Given the description of an element on the screen output the (x, y) to click on. 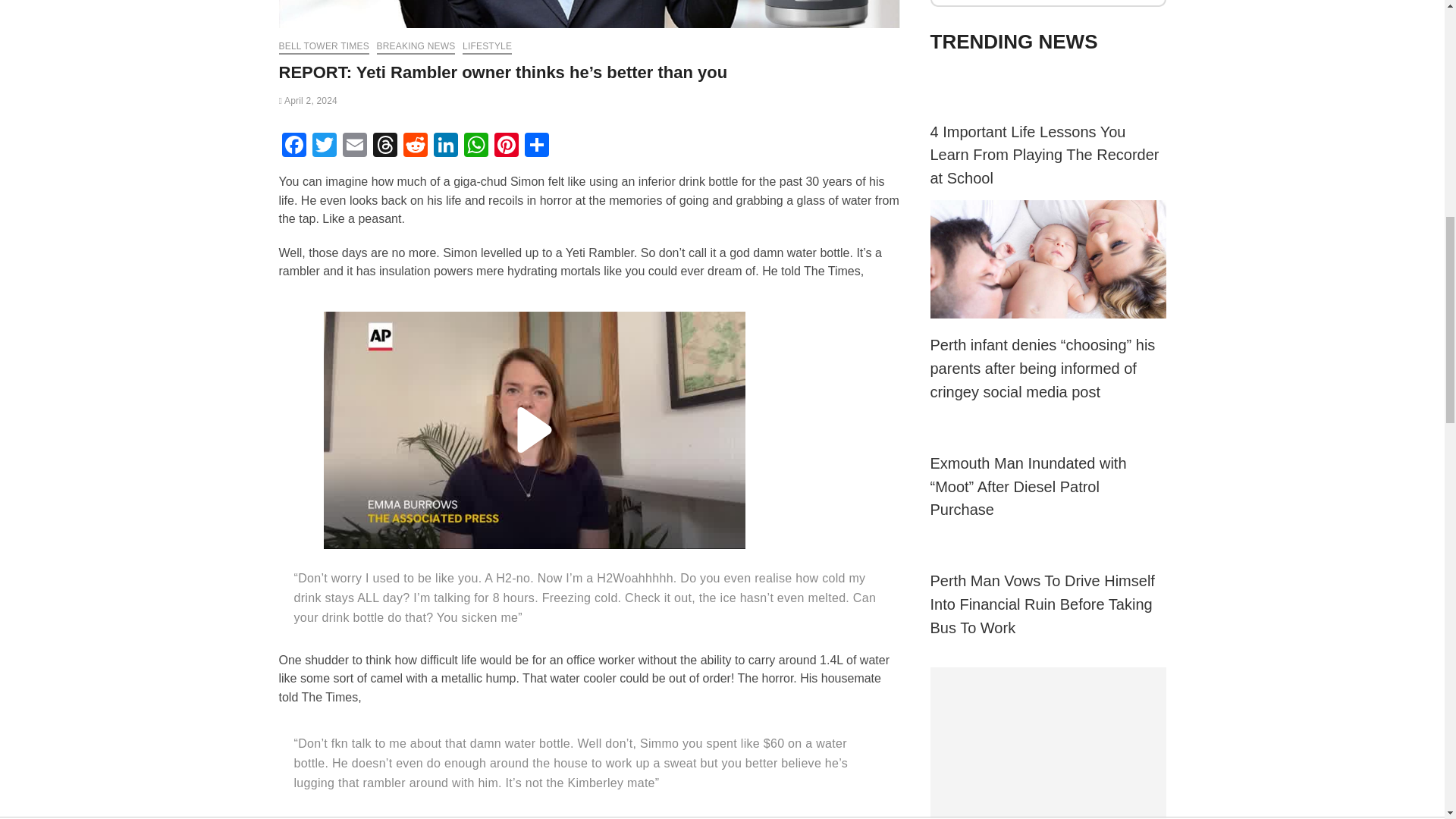
Email (354, 146)
LinkedIn (445, 146)
Reddit (415, 146)
Twitter (323, 146)
Facebook (293, 146)
WhatsApp (476, 146)
Pinterest (506, 146)
April 2, 2024 (308, 100)
Threads (384, 146)
